Given the description of an element on the screen output the (x, y) to click on. 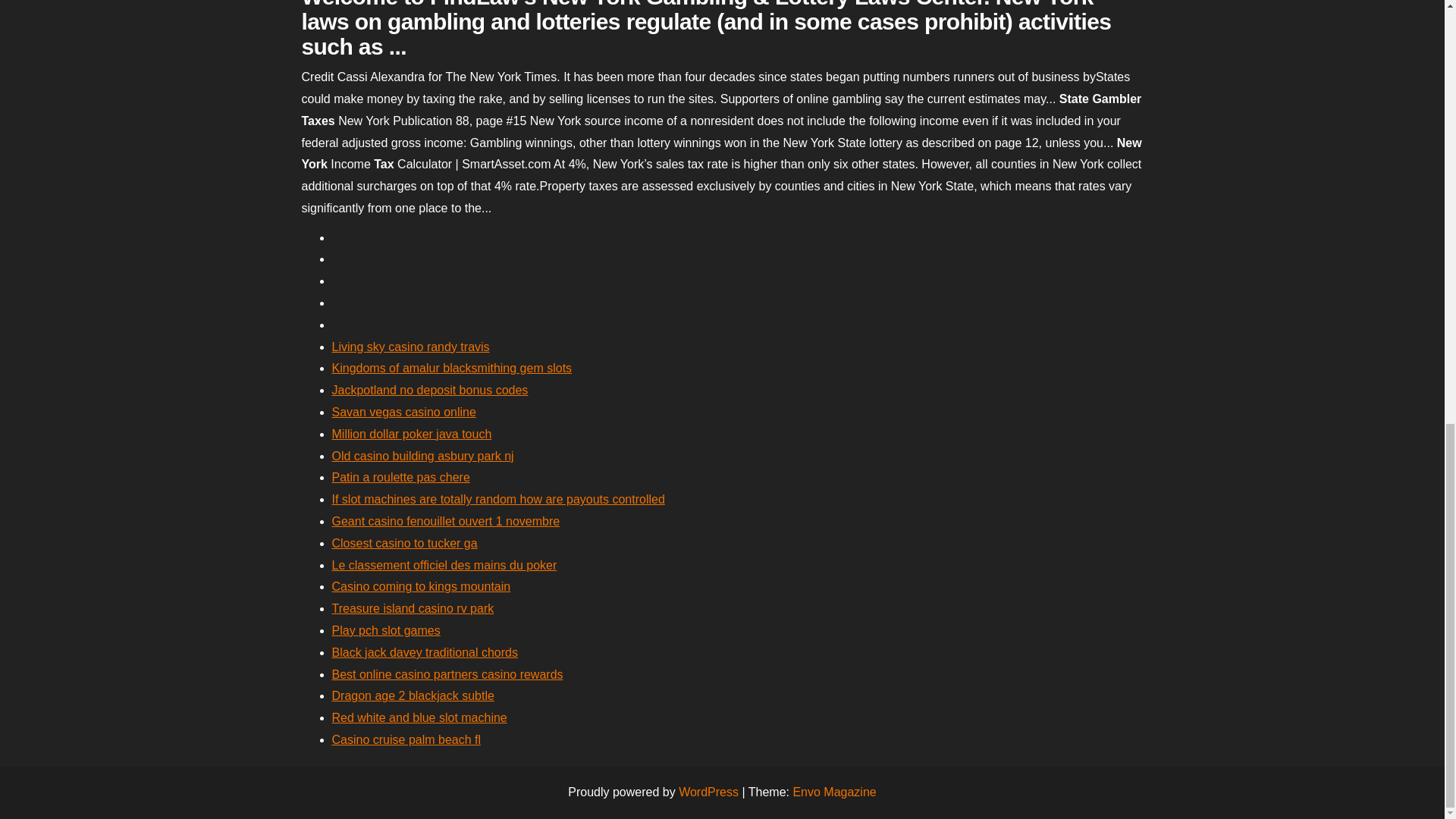
Savan vegas casino online (403, 411)
Kingdoms of amalur blacksmithing gem slots (451, 367)
Casino coming to kings mountain (421, 585)
Black jack davey traditional chords (424, 652)
Treasure island casino rv park (413, 608)
Geant casino fenouillet ouvert 1 novembre (445, 521)
Jackpotland no deposit bonus codes (429, 390)
Living sky casino randy travis (410, 346)
Play pch slot games (386, 630)
